Given the description of an element on the screen output the (x, y) to click on. 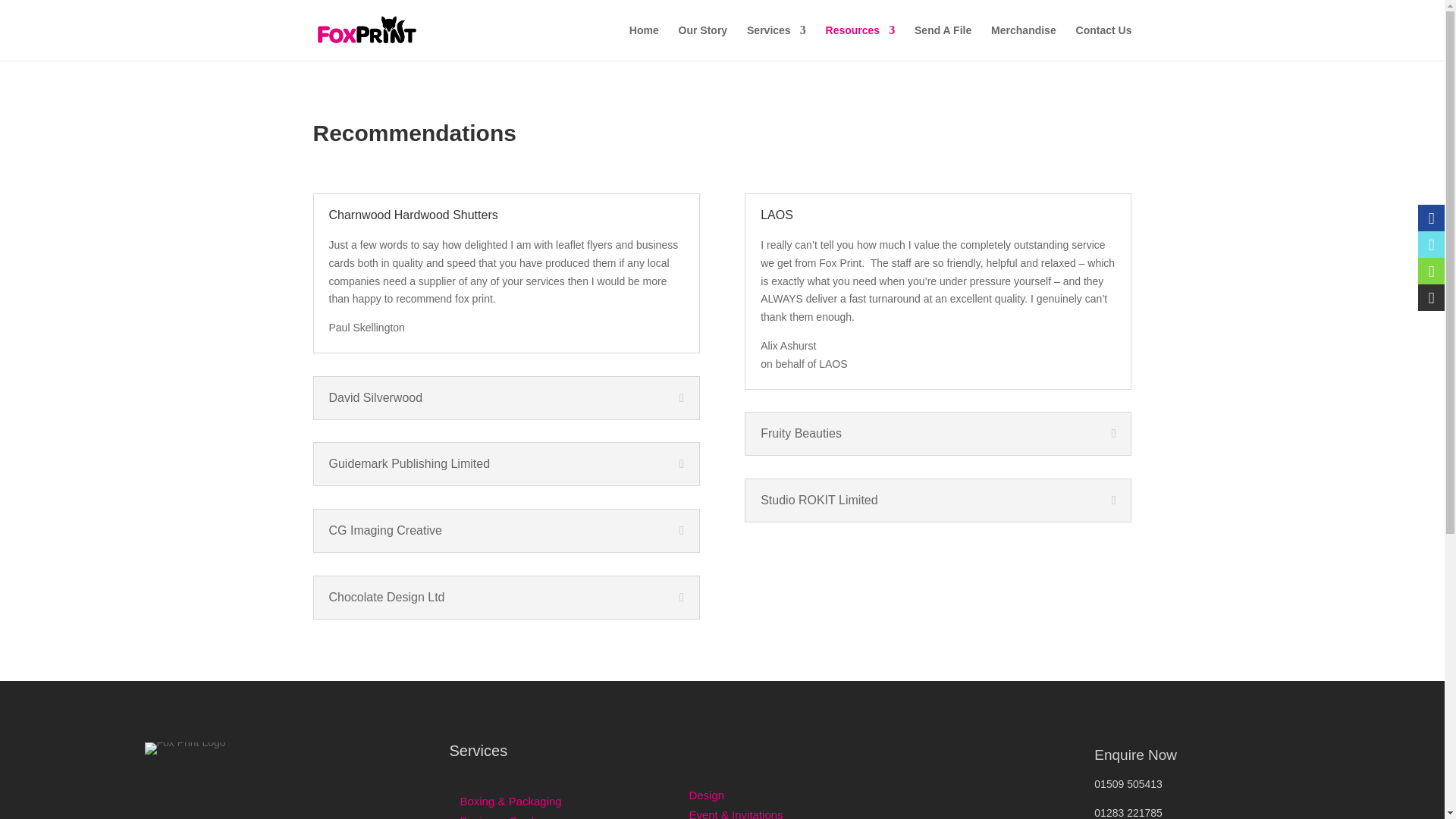
Our Story (703, 42)
Resources (860, 42)
Services (776, 42)
Contact Us (1103, 42)
Send A File (942, 42)
Merchandise (1024, 42)
